Given the description of an element on the screen output the (x, y) to click on. 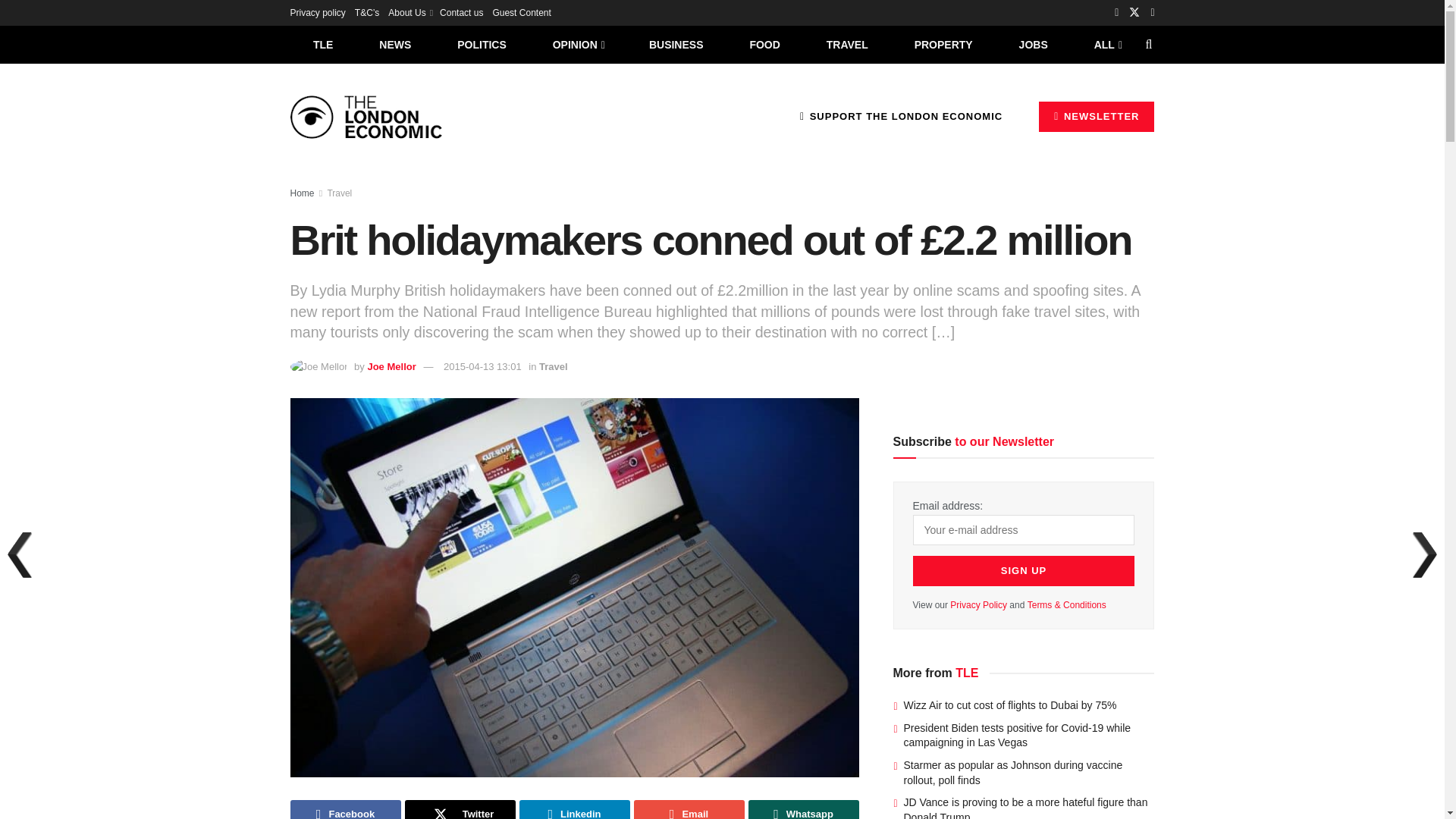
OPINION (577, 44)
FOOD (764, 44)
About Us (409, 12)
SUPPORT THE LONDON ECONOMIC (900, 116)
JOBS (1032, 44)
Contact us (461, 12)
PROPERTY (943, 44)
Sign up (1023, 571)
Guest Content (521, 12)
POLITICS (481, 44)
TLE (322, 44)
Home (301, 193)
BUSINESS (676, 44)
ALL (1106, 44)
TRAVEL (847, 44)
